Given the description of an element on the screen output the (x, y) to click on. 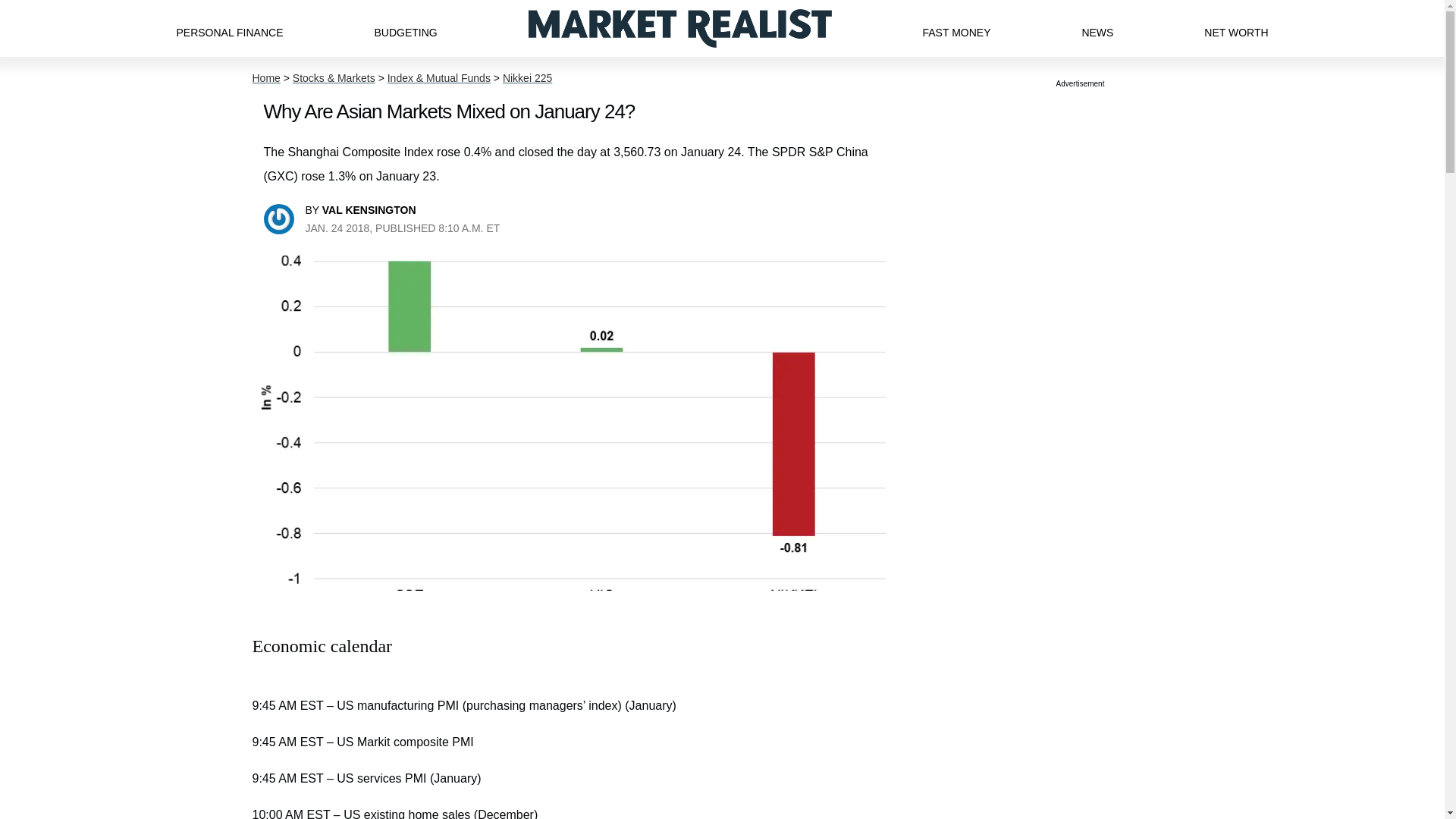
NEWS (1097, 27)
FAST MONEY (955, 27)
VAL KENSINGTON (368, 209)
BUDGETING (405, 27)
Nikkei 225 (526, 78)
PERSONAL FINANCE (229, 27)
Home (265, 78)
NET WORTH (1236, 27)
